Given the description of an element on the screen output the (x, y) to click on. 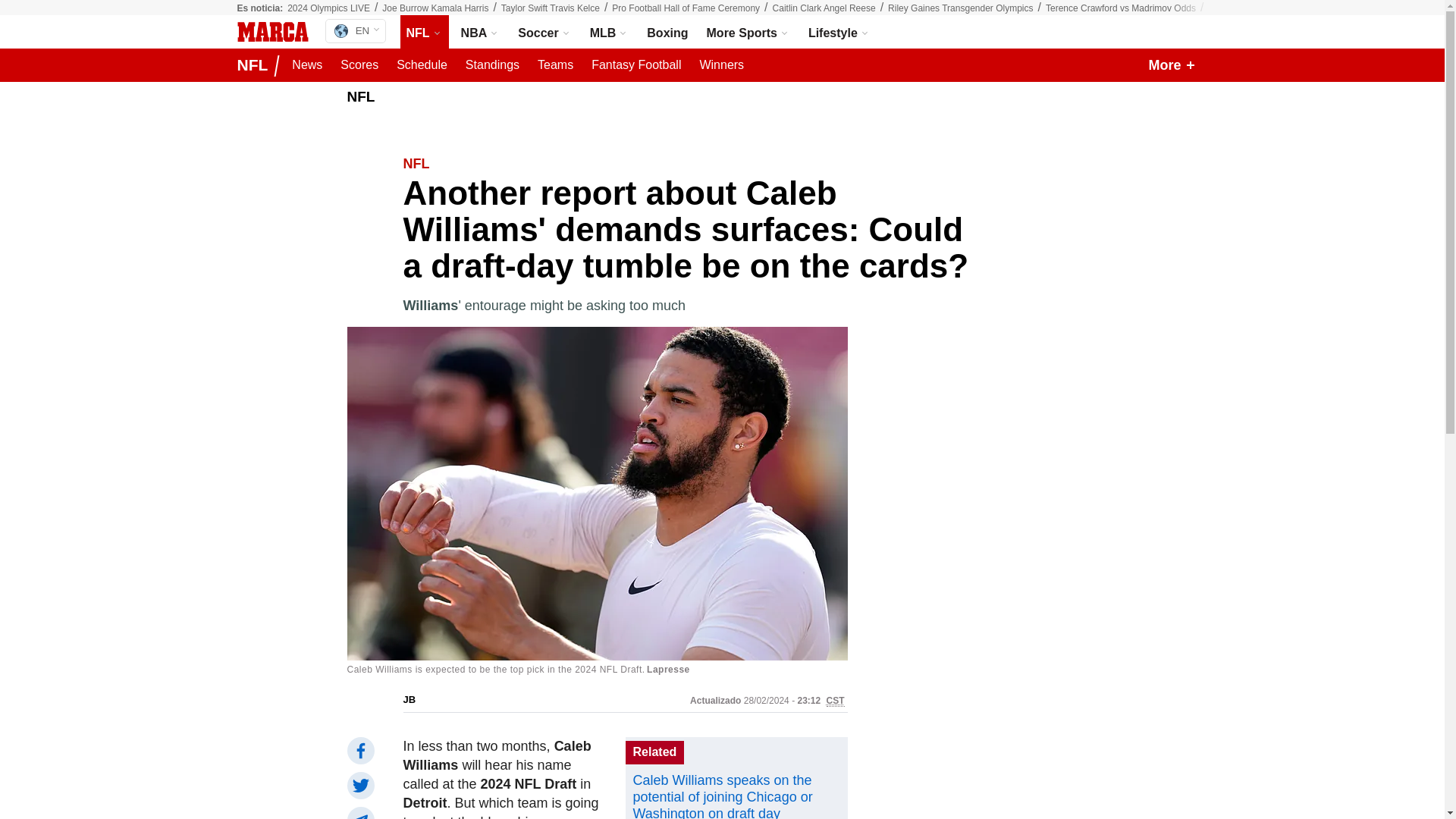
NBA (480, 31)
Standings (492, 64)
NBA (480, 31)
Winners (721, 64)
Terence Crawford vs Madrimov Odds (1120, 8)
Boxing (667, 31)
Lifestyle (354, 30)
Scores (839, 31)
More Sports (359, 64)
MLB (748, 31)
Soccer (608, 31)
Soccer (544, 31)
Joe Burrow Kamala Harris (544, 31)
Riley Gaines Transgender Olympics (434, 8)
